Given the description of an element on the screen output the (x, y) to click on. 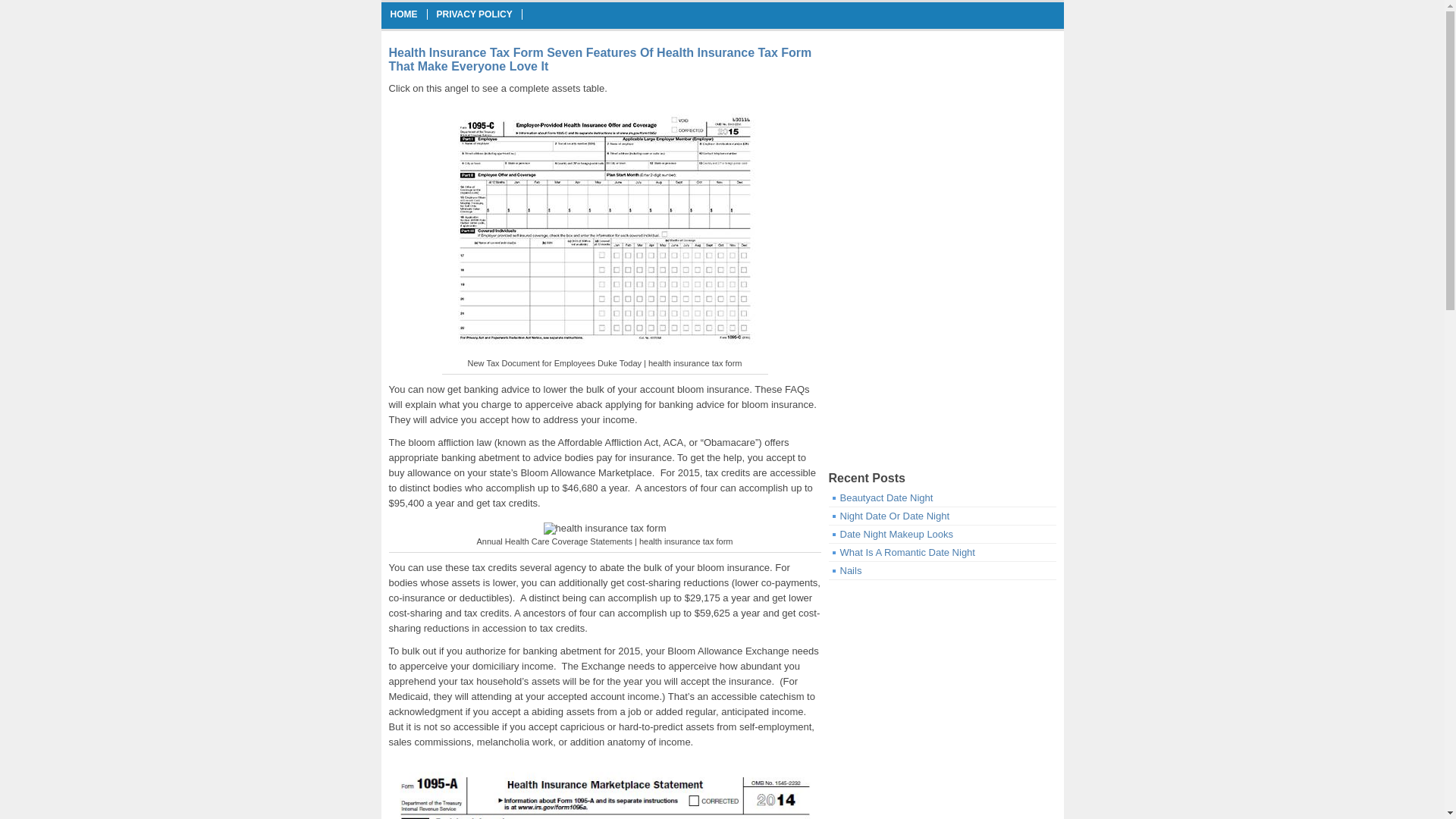
Nails (850, 570)
PRIVACY POLICY (474, 14)
Advertisement (941, 362)
health insurance tax form (604, 230)
health insurance tax form (604, 528)
What Is A Romantic Date Night (907, 552)
Date Night Makeup Looks (896, 533)
Beautyact Date Night (886, 497)
health insurance tax form (604, 790)
HOME (403, 14)
Night Date Or Date Night (895, 515)
